Given the description of an element on the screen output the (x, y) to click on. 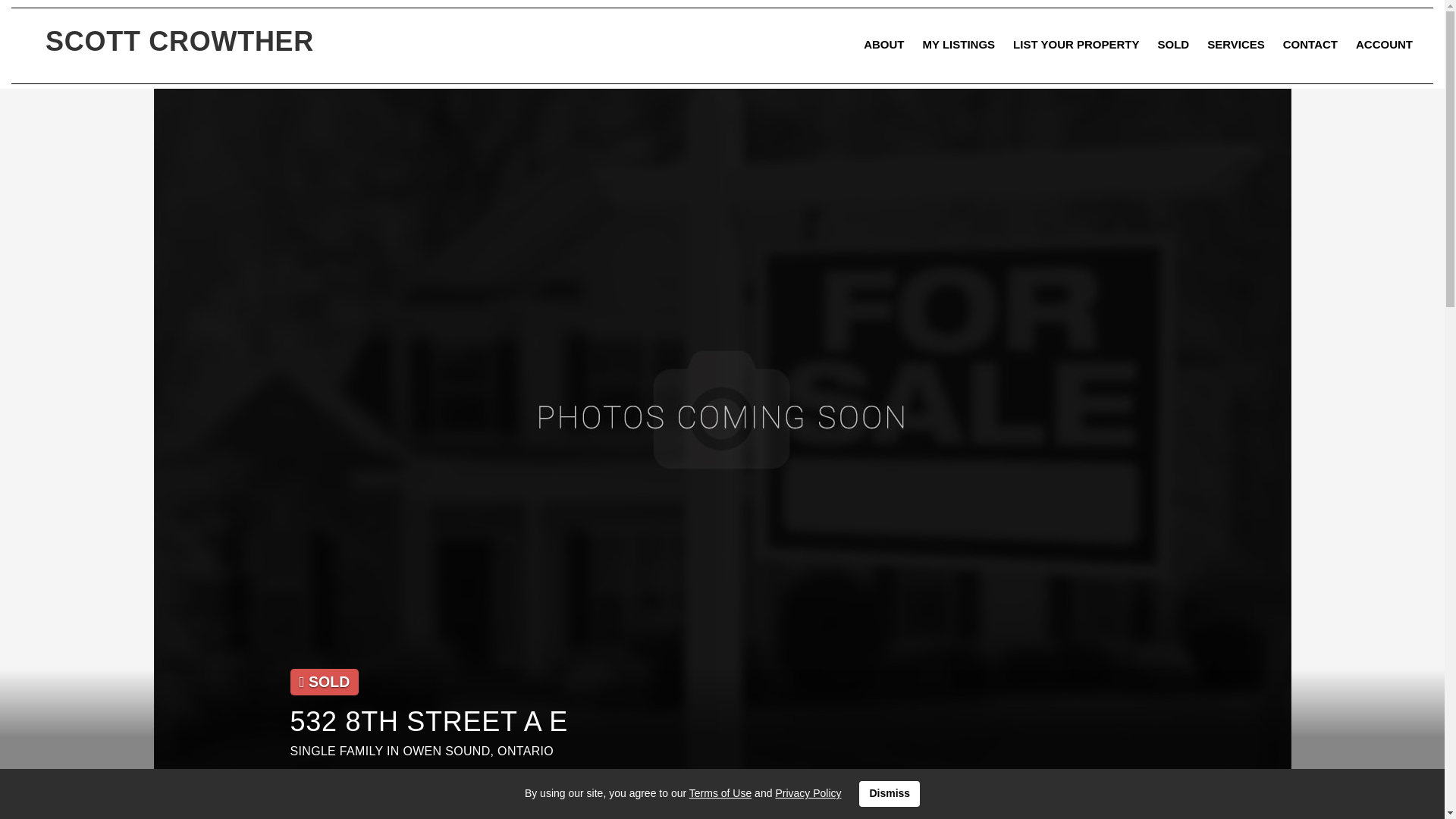
SERVICES (1236, 44)
Dismiss (889, 793)
SOLD (1173, 44)
ABOUT (883, 44)
ACCOUNT (1384, 44)
LIST YOUR PROPERTY (1076, 44)
CONTACT (1310, 44)
MY LISTINGS (959, 44)
SCOTT CROWTHER (179, 41)
Privacy Policy (807, 793)
